Given the description of an element on the screen output the (x, y) to click on. 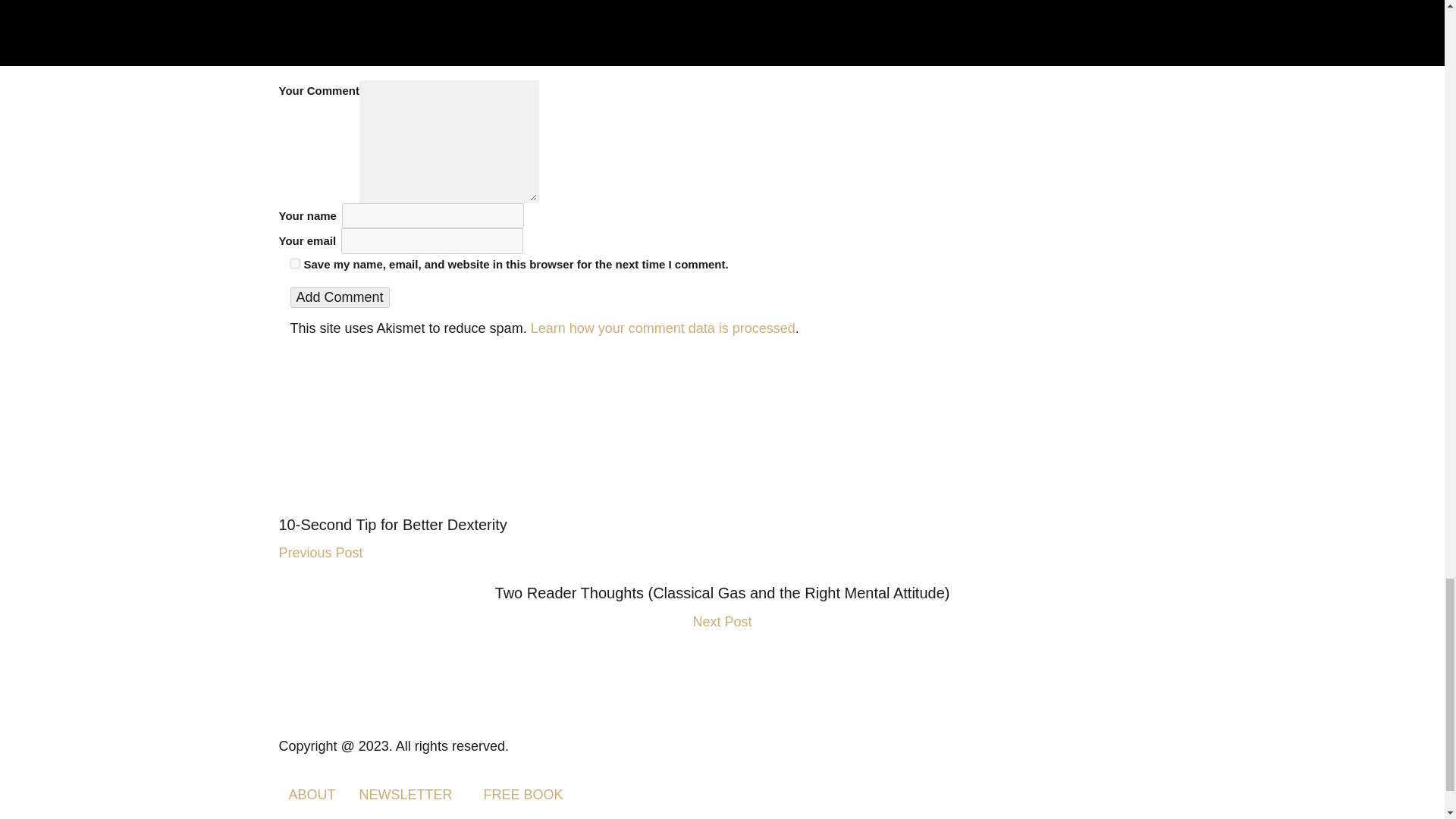
yes (294, 263)
Add Comment (338, 297)
HERE (805, 4)
